Given the description of an element on the screen output the (x, y) to click on. 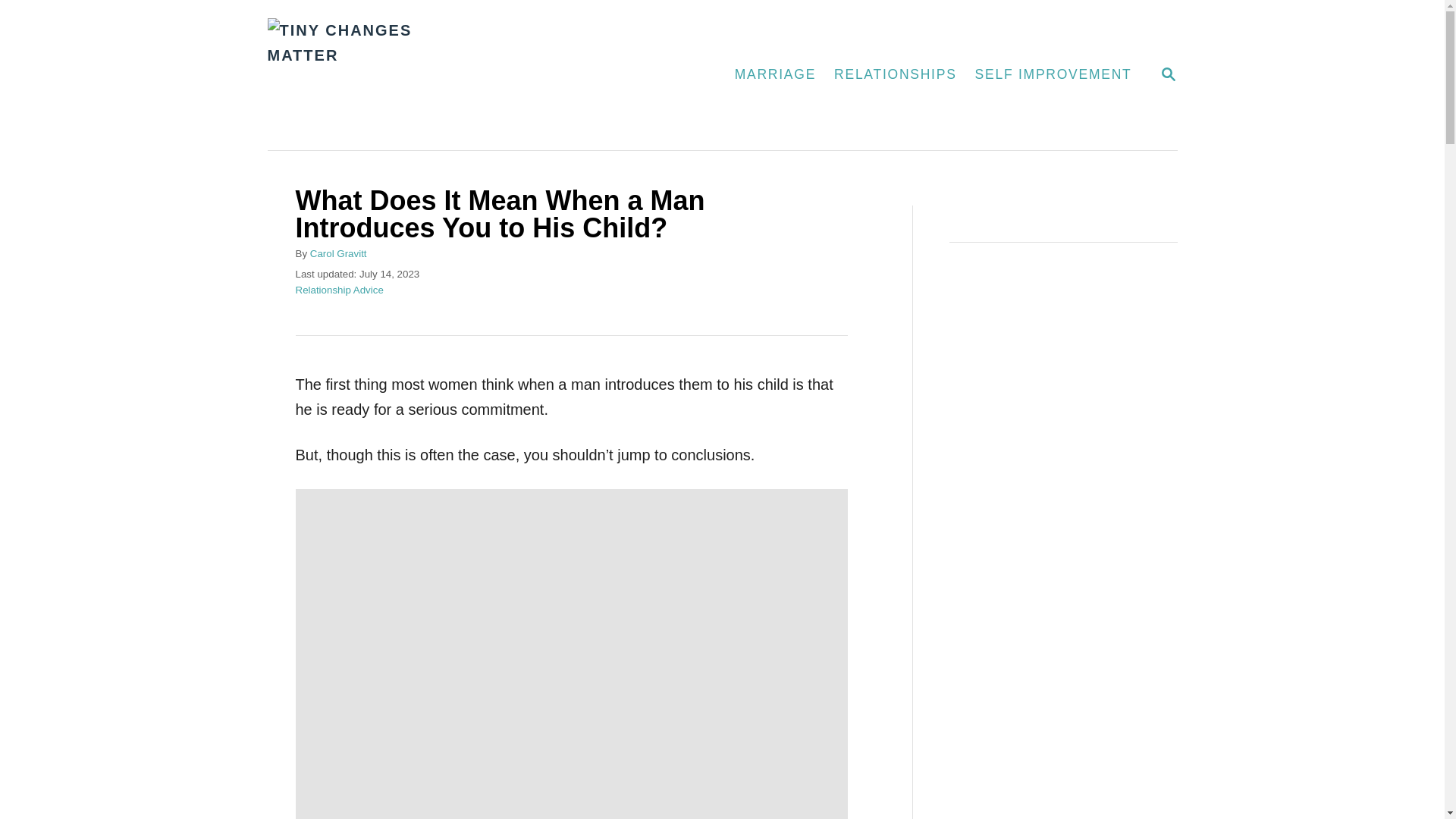
Carol Gravitt (338, 253)
RELATIONSHIPS (895, 74)
Relationship Advice (339, 289)
MAGNIFYING GLASS (1167, 74)
Tiny Changes Matter (438, 74)
SELF IMPROVEMENT (1167, 75)
MARRIAGE (1053, 74)
